Given the description of an element on the screen output the (x, y) to click on. 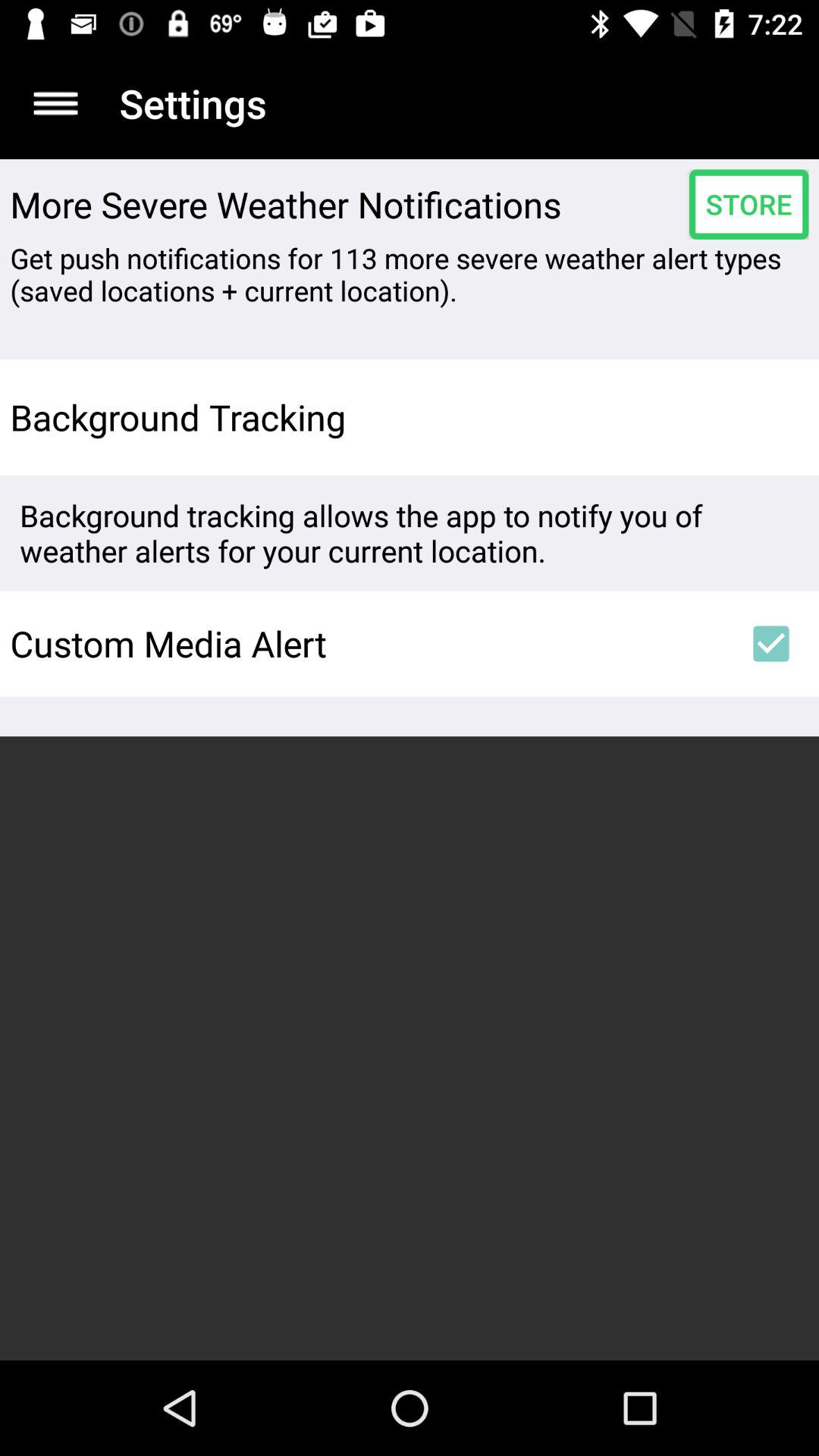
tap the icon on the right (771, 643)
